Given the description of an element on the screen output the (x, y) to click on. 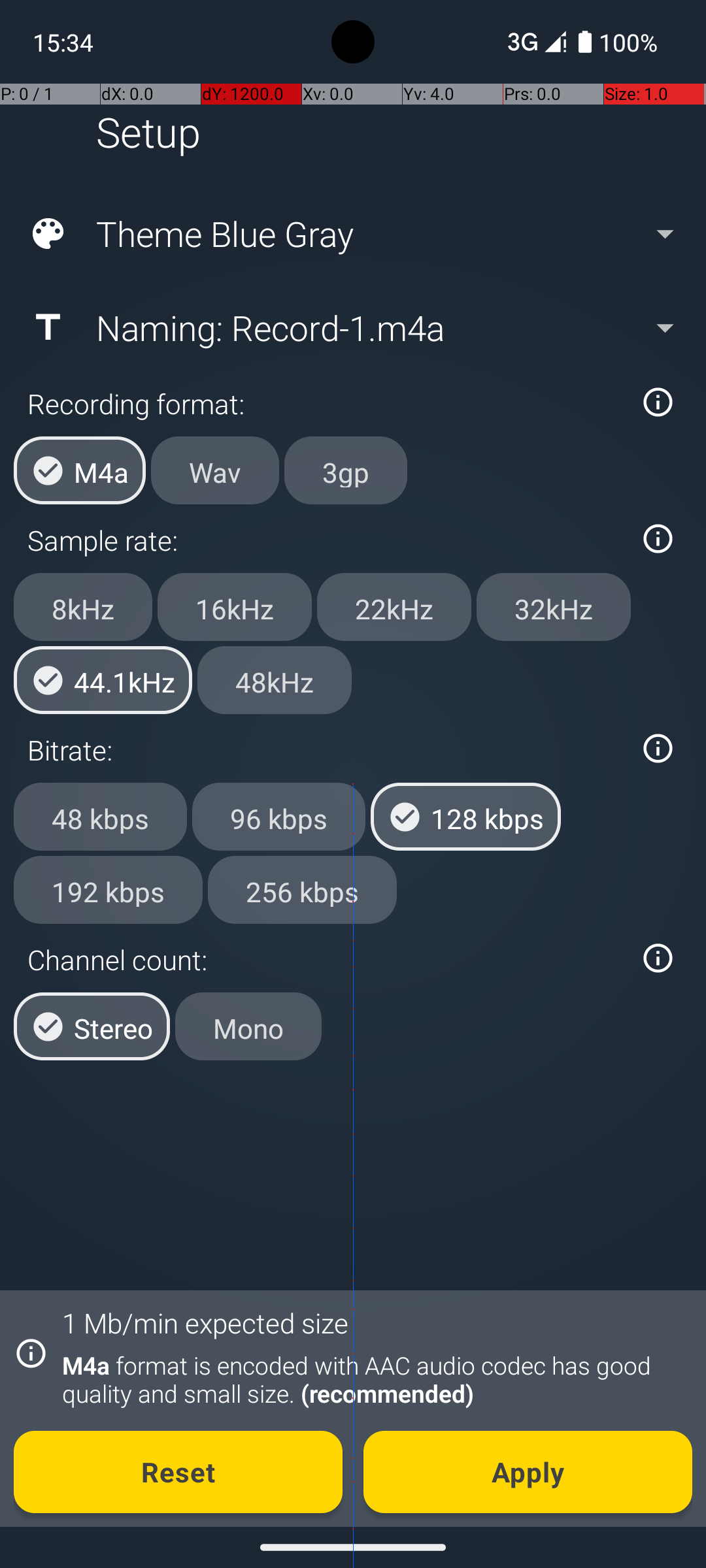
M4a format is encoded with AAC audio codec has good quality and small size. (recommended) Element type: android.widget.TextView (370, 1378)
